Given the description of an element on the screen output the (x, y) to click on. 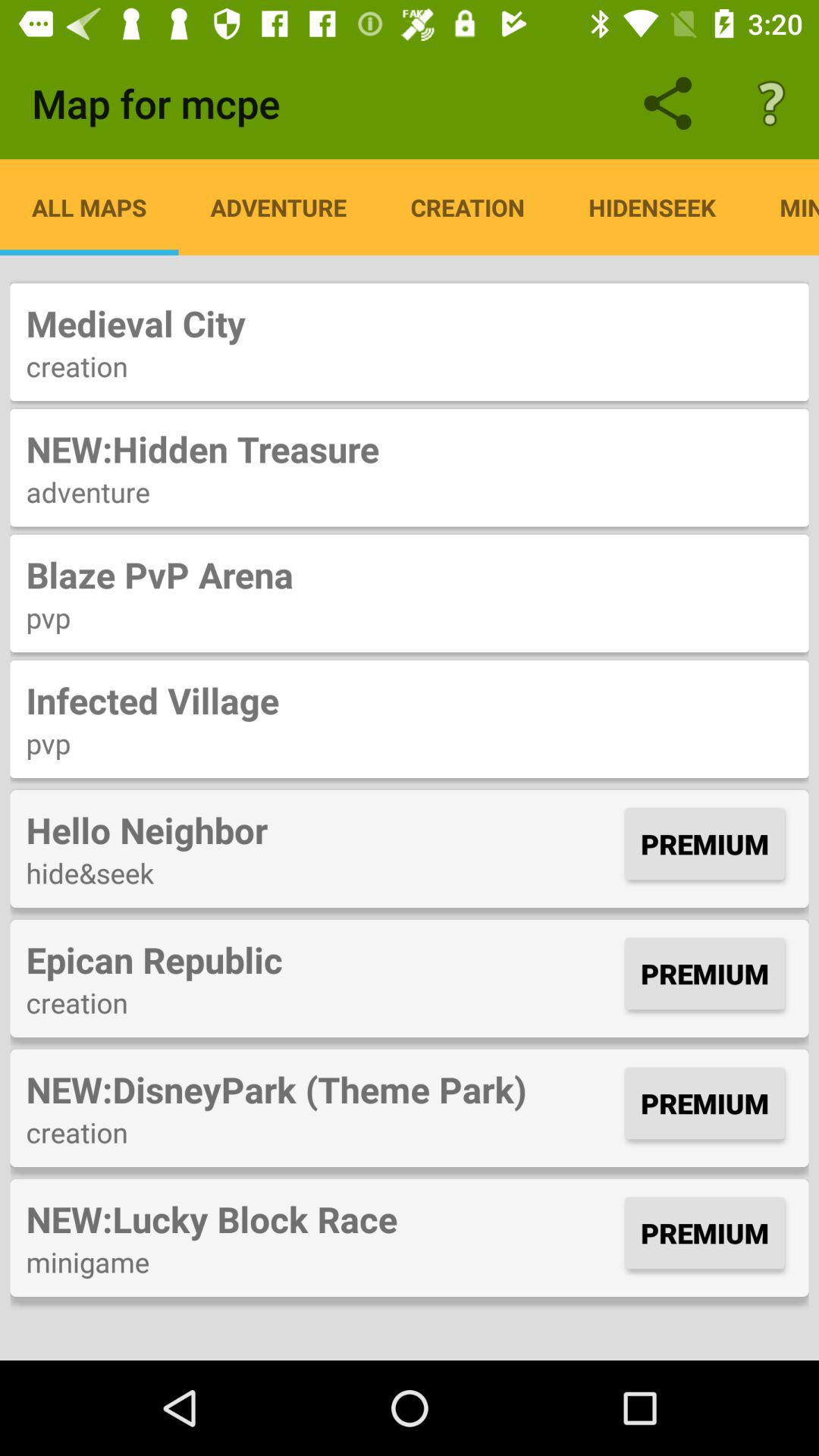
turn on the item below all maps item (409, 323)
